Given the description of an element on the screen output the (x, y) to click on. 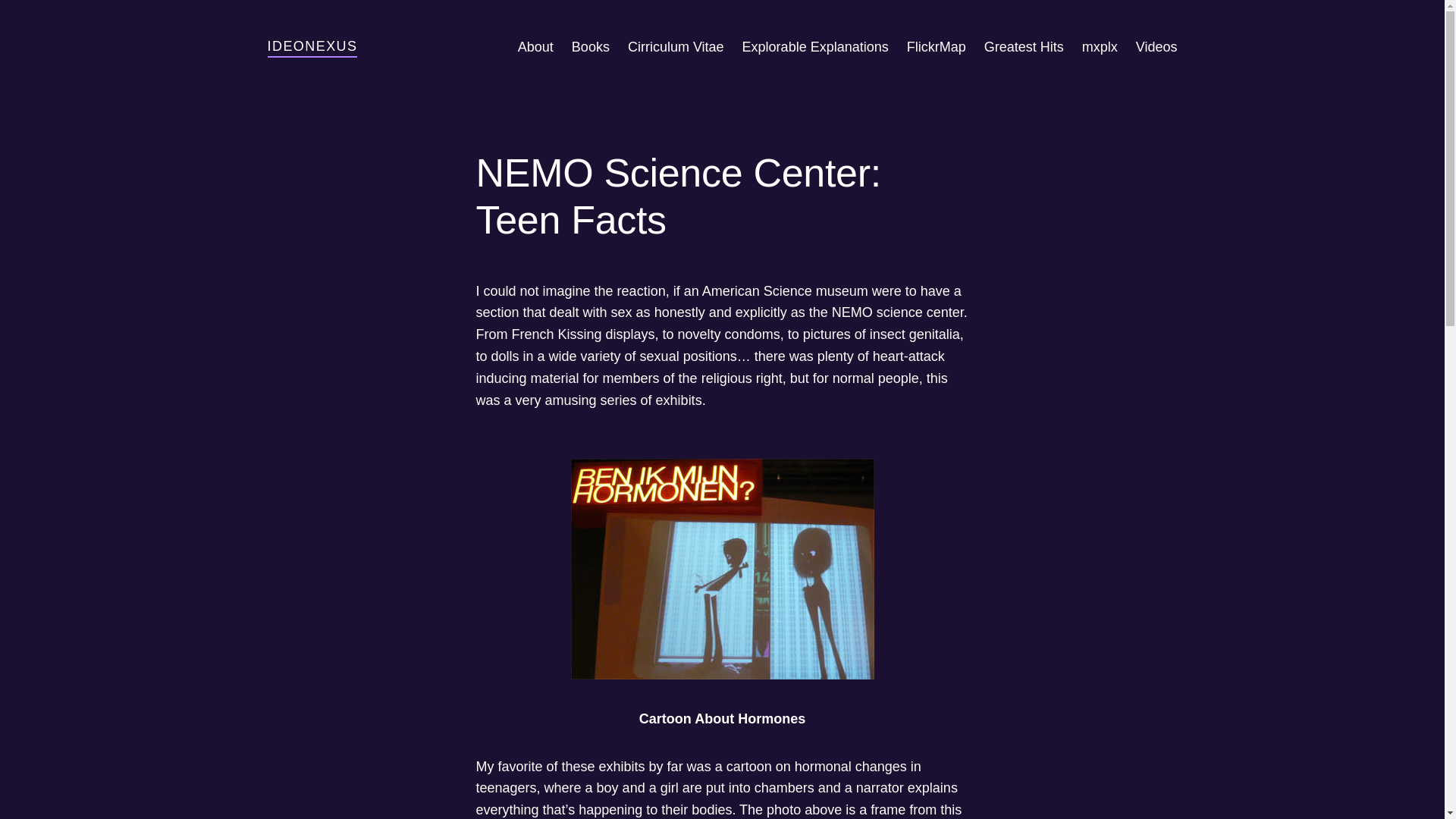
mxplx (1099, 47)
FlickrMap (936, 47)
Cartoon About Hormones (721, 568)
Explorable Explanations (815, 47)
Cirriculum Vitae (675, 47)
Books (591, 47)
Videos (1156, 47)
About (535, 47)
Greatest Hits (1024, 47)
IDEONEXUS (311, 46)
